Given the description of an element on the screen output the (x, y) to click on. 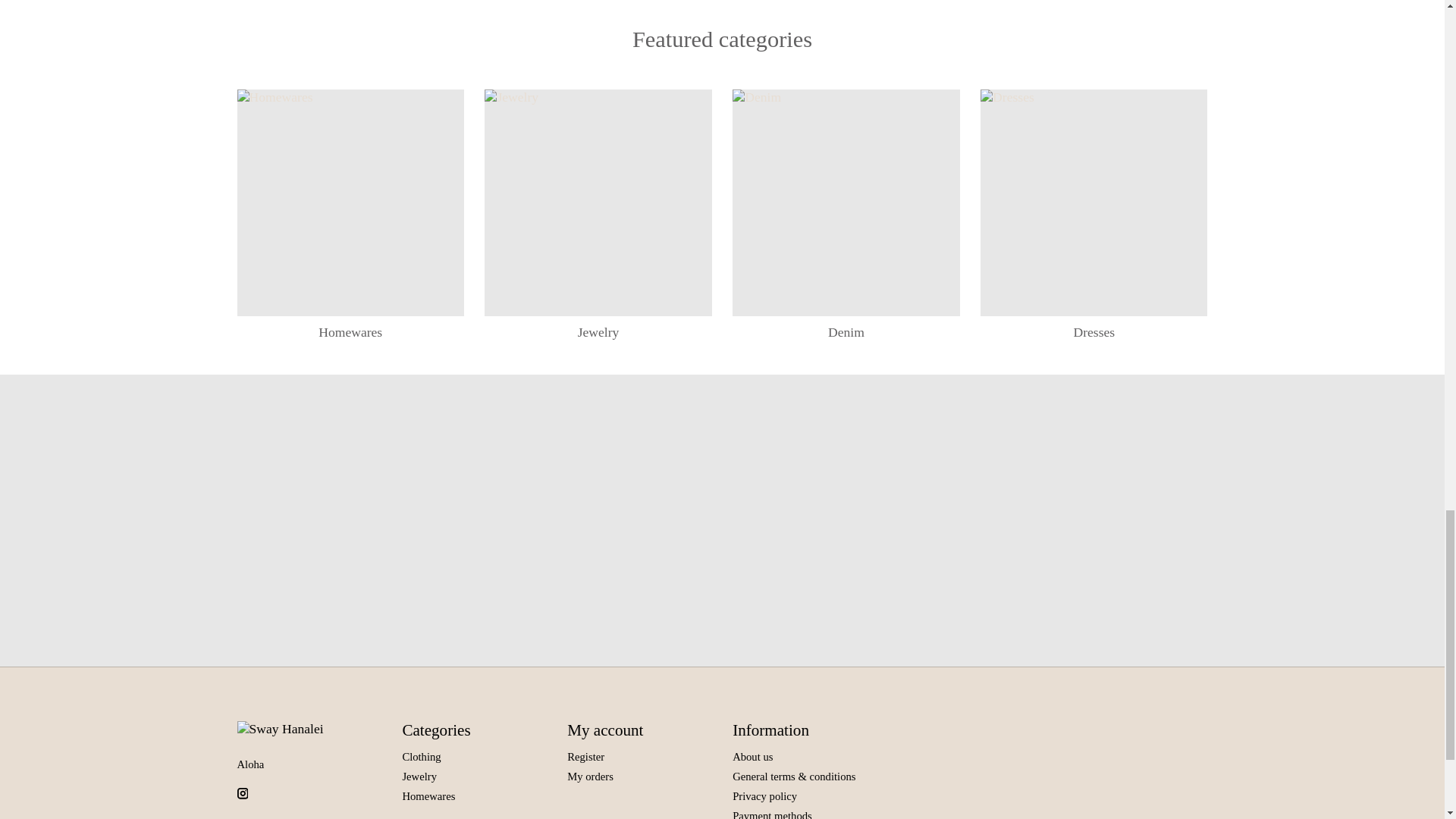
Jewelry (597, 202)
Dresses (1093, 202)
Homewares (350, 202)
Denim (845, 202)
